Given the description of an element on the screen output the (x, y) to click on. 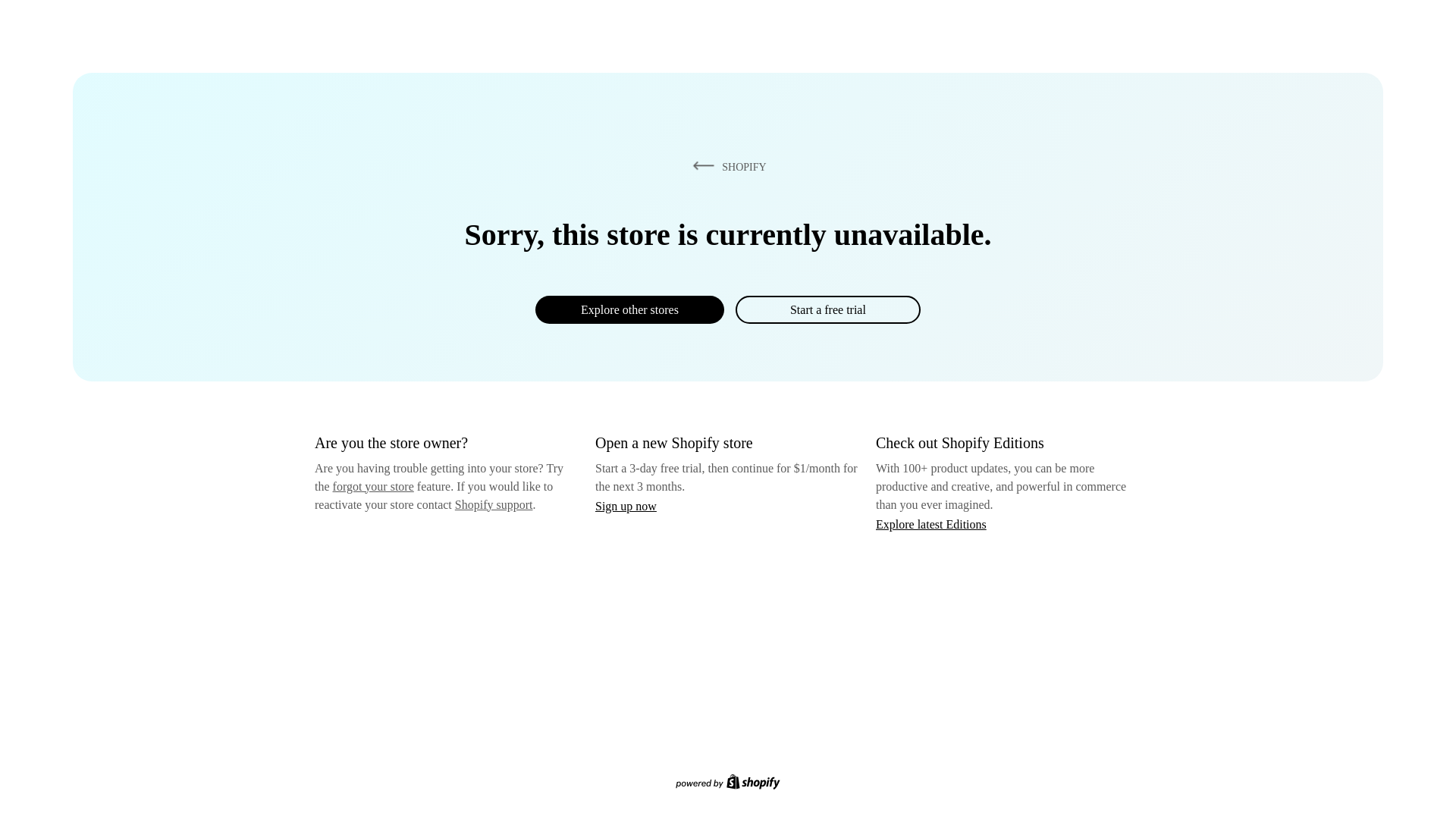
forgot your store (373, 486)
Explore other stores (629, 309)
Sign up now (625, 505)
Shopify support (493, 504)
Explore latest Editions (931, 523)
Start a free trial (827, 309)
SHOPIFY (726, 166)
